Given the description of an element on the screen output the (x, y) to click on. 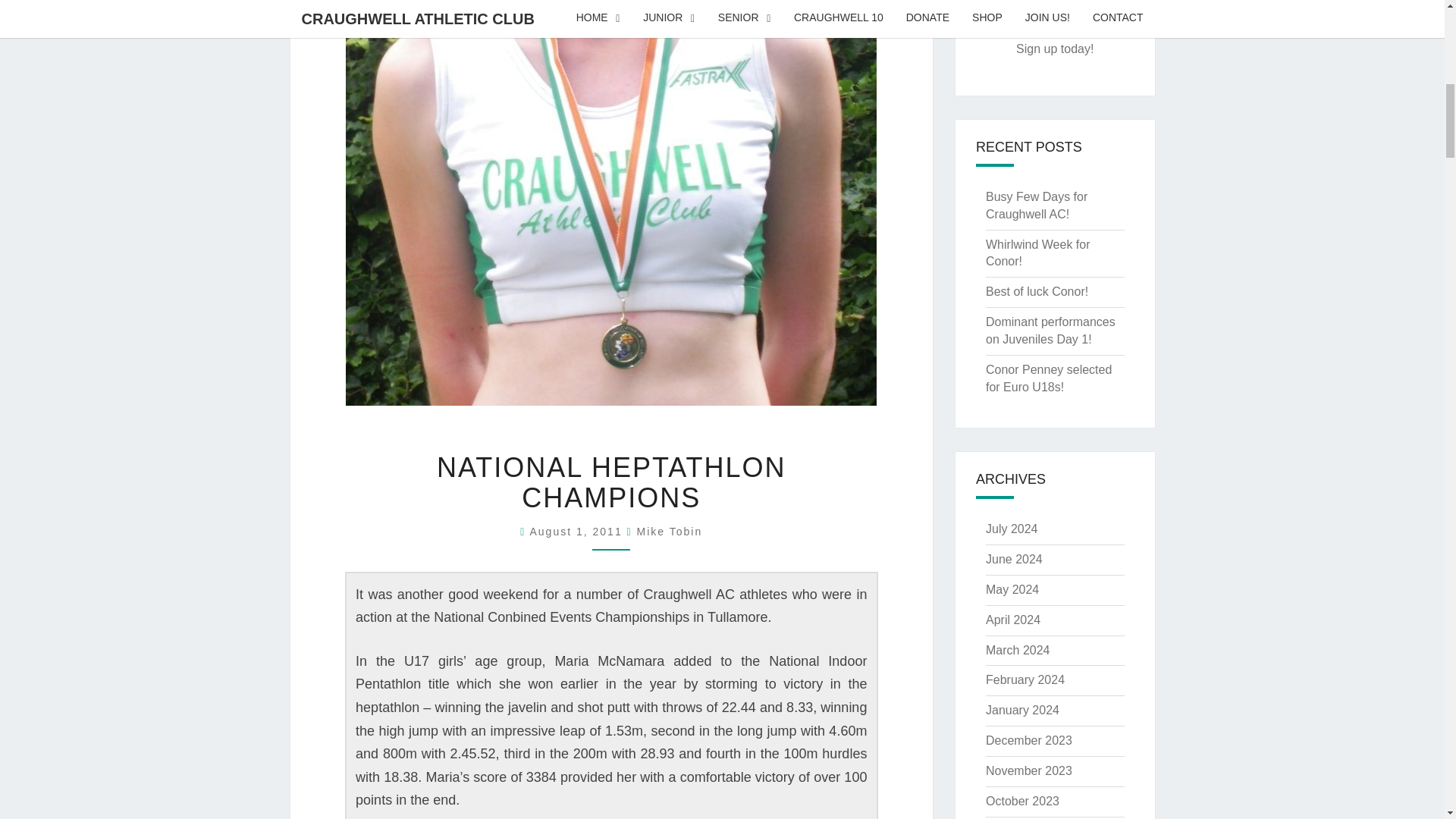
Mike Tobin (670, 531)
August 1, 2011 (577, 531)
10:47 pm (577, 531)
View all posts by Mike Tobin (670, 531)
